Given the description of an element on the screen output the (x, y) to click on. 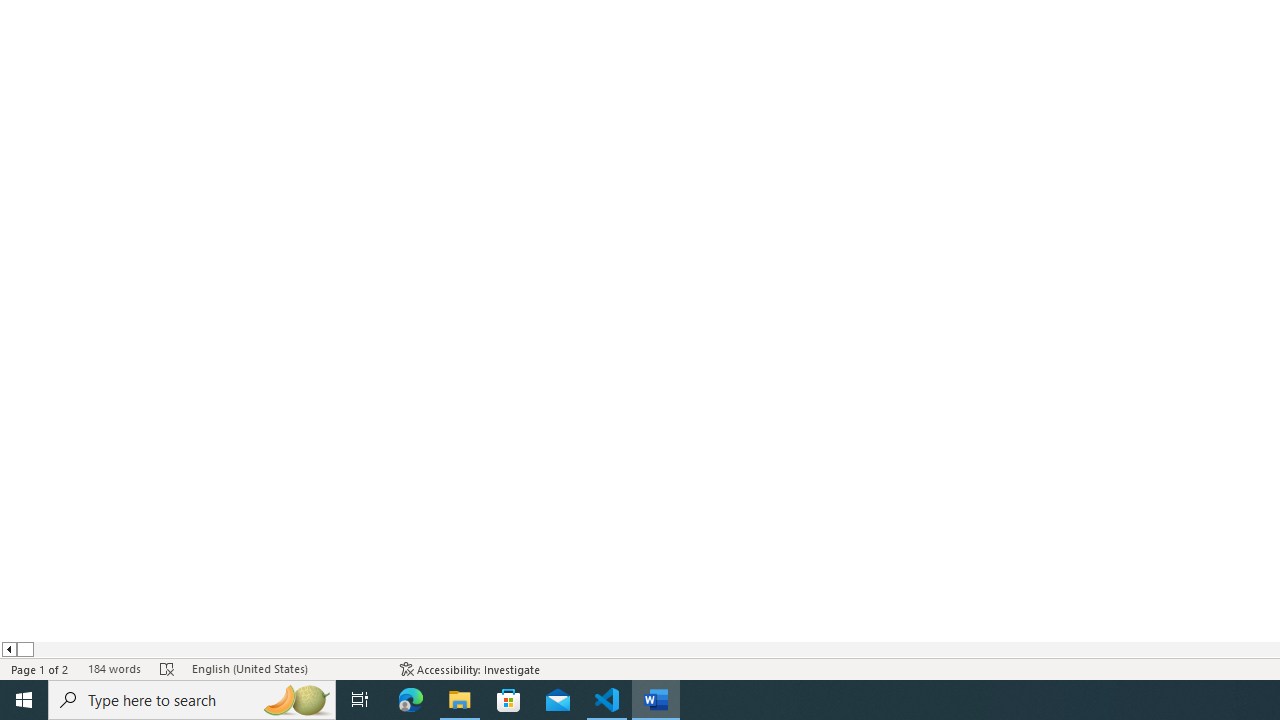
Page Number Page 1 of 2 (39, 668)
Word Count 184 words (113, 668)
Column left (8, 649)
